Given the description of an element on the screen output the (x, y) to click on. 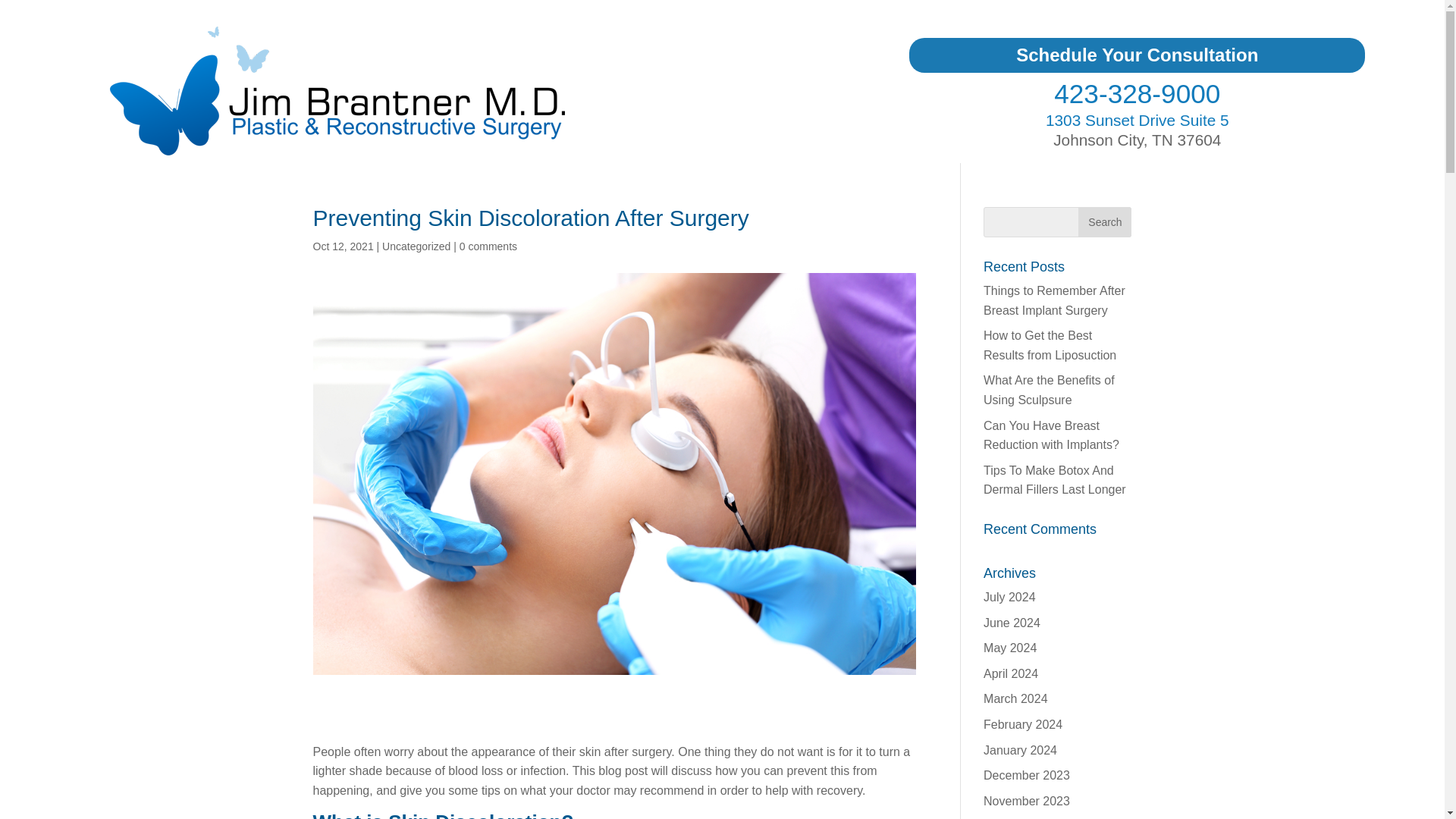
423-328-9000 (1137, 93)
Schedule Your Consultation (1136, 55)
1303 Sunset Drive Suite 5 (1136, 119)
Search (1104, 222)
